Given the description of an element on the screen output the (x, y) to click on. 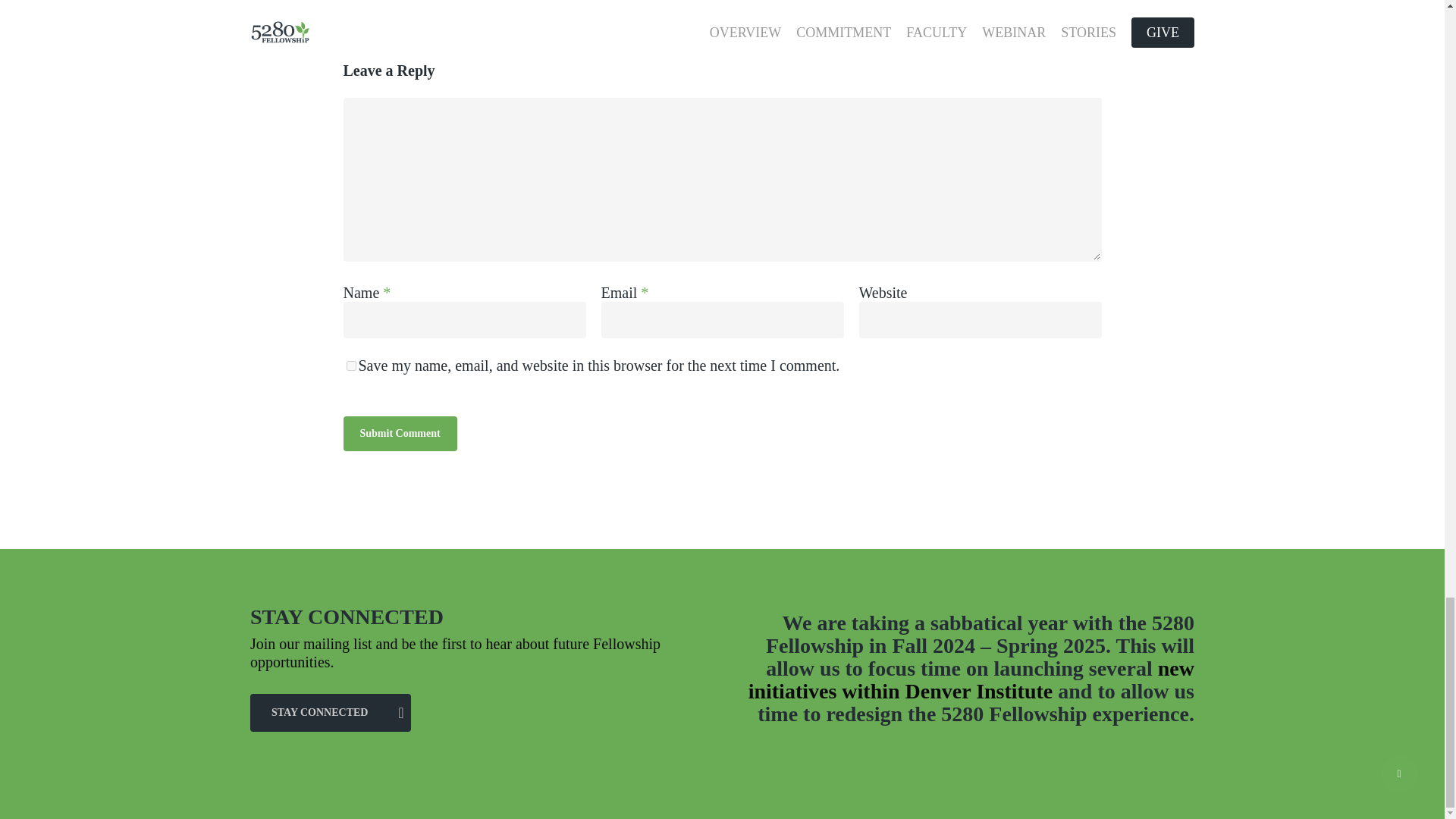
STAY CONNECTED (330, 712)
Submit Comment (399, 433)
Submit Comment (399, 433)
new initiatives within Denver Institute (970, 679)
yes (350, 366)
